Given the description of an element on the screen output the (x, y) to click on. 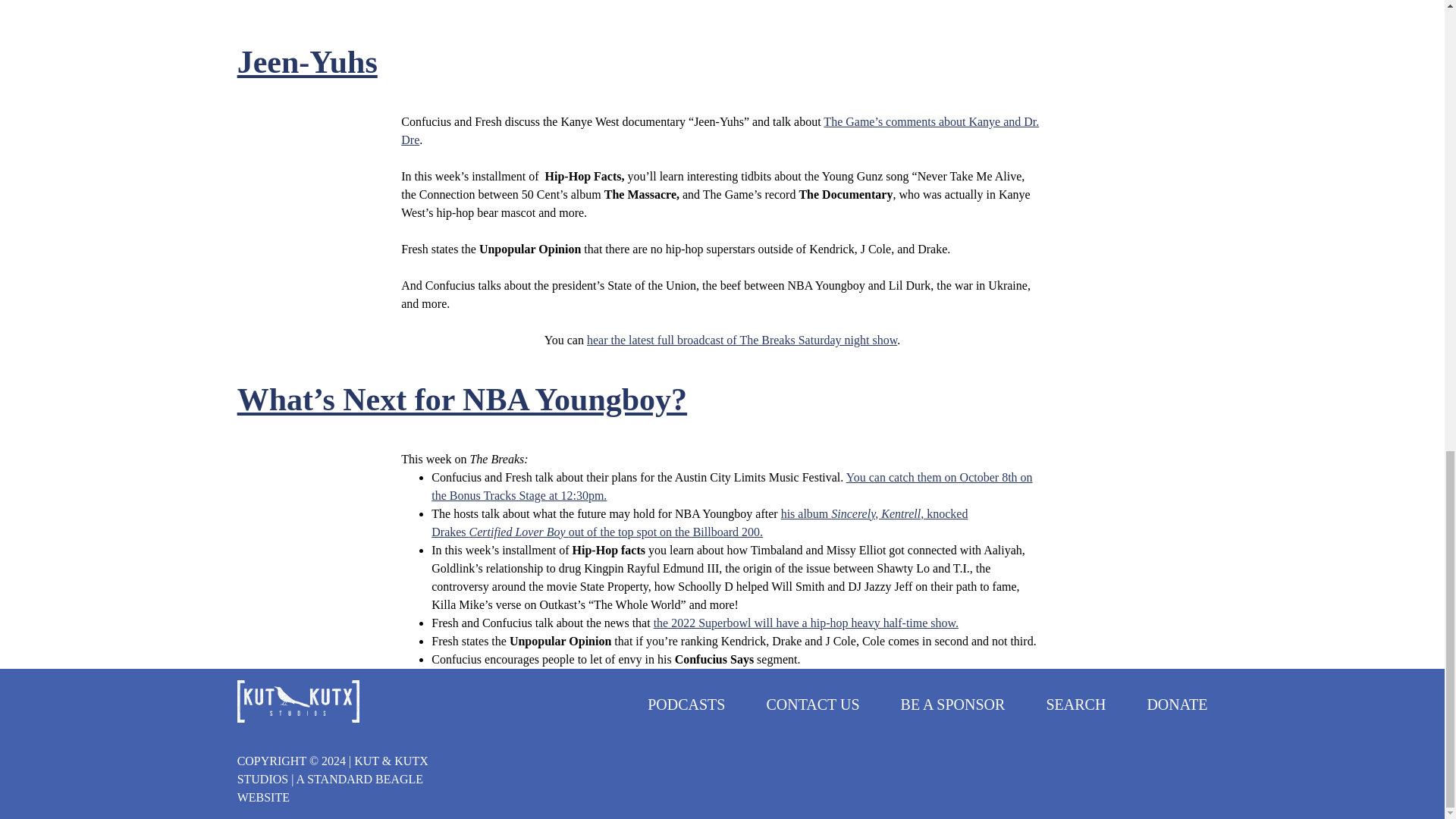
PODCASTS (686, 704)
Jeen-Yuhs (307, 62)
DONATE (1177, 704)
BE A SPONSOR (953, 704)
CONTACT US (812, 704)
the 2022 Superbowl will have a hip-hop heavy half-time show. (805, 622)
SEARCH (1075, 704)
